Given the description of an element on the screen output the (x, y) to click on. 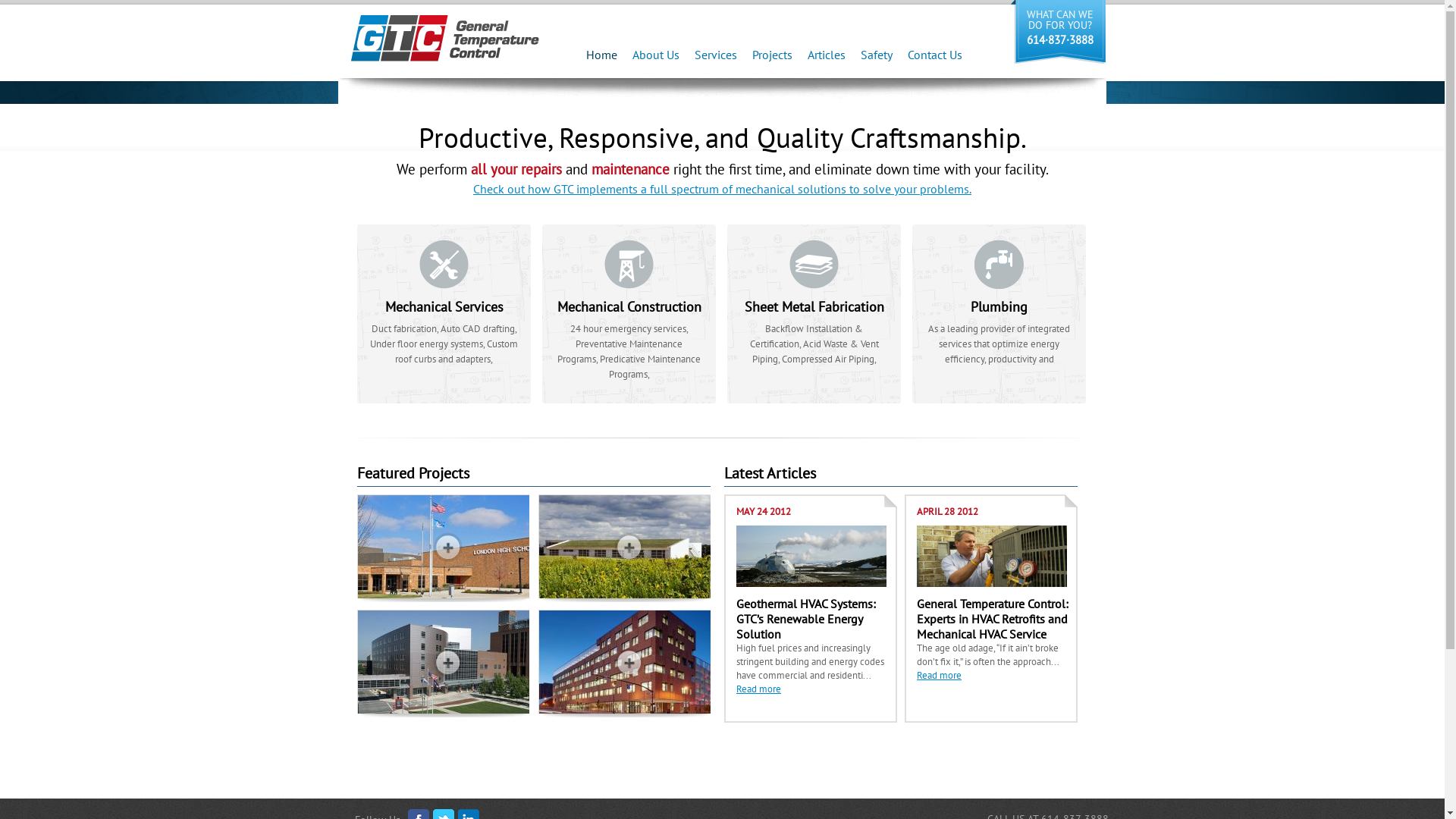
About Us Element type: text (655, 54)
Home Element type: text (601, 54)
Read more Element type: text (758, 688)
Projects Element type: text (772, 54)
Read more Element type: text (938, 674)
Articles Element type: text (826, 54)
Services Element type: text (715, 54)
Safety Element type: text (876, 54)
Contact Us Element type: text (934, 54)
